Given the description of an element on the screen output the (x, y) to click on. 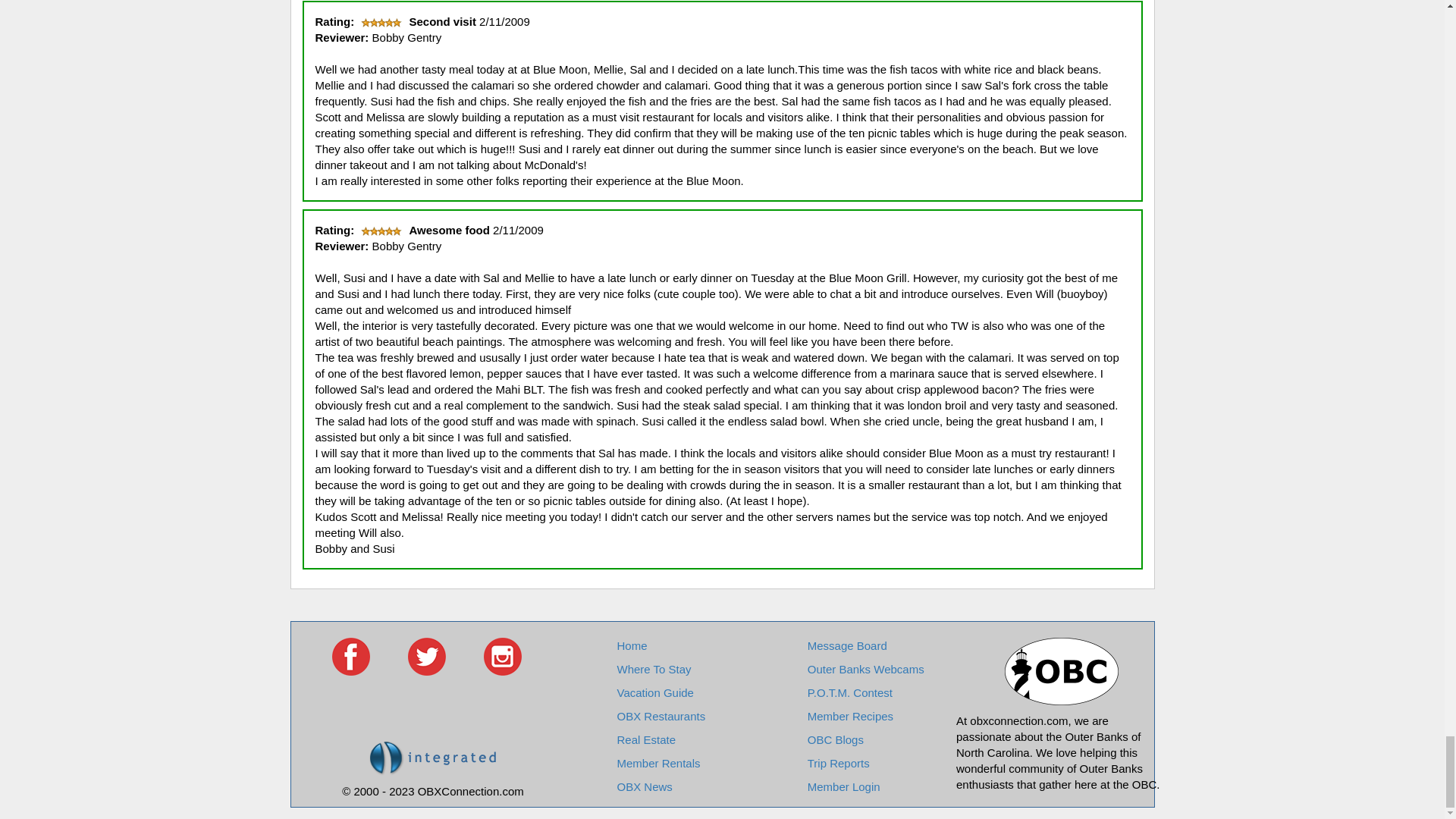
Trip Reports (838, 762)
Real Estate (645, 739)
Where To Stay (652, 668)
OBX Restaurants (659, 716)
P.O.T.M. Contest (850, 692)
Outer Banks Webcams (866, 668)
OBX News (643, 786)
Message Board (847, 645)
Vacation Guide (654, 692)
Member Recipes (850, 716)
Home (630, 645)
OBC Blogs (835, 739)
Member Rentals (657, 762)
